Given the description of an element on the screen output the (x, y) to click on. 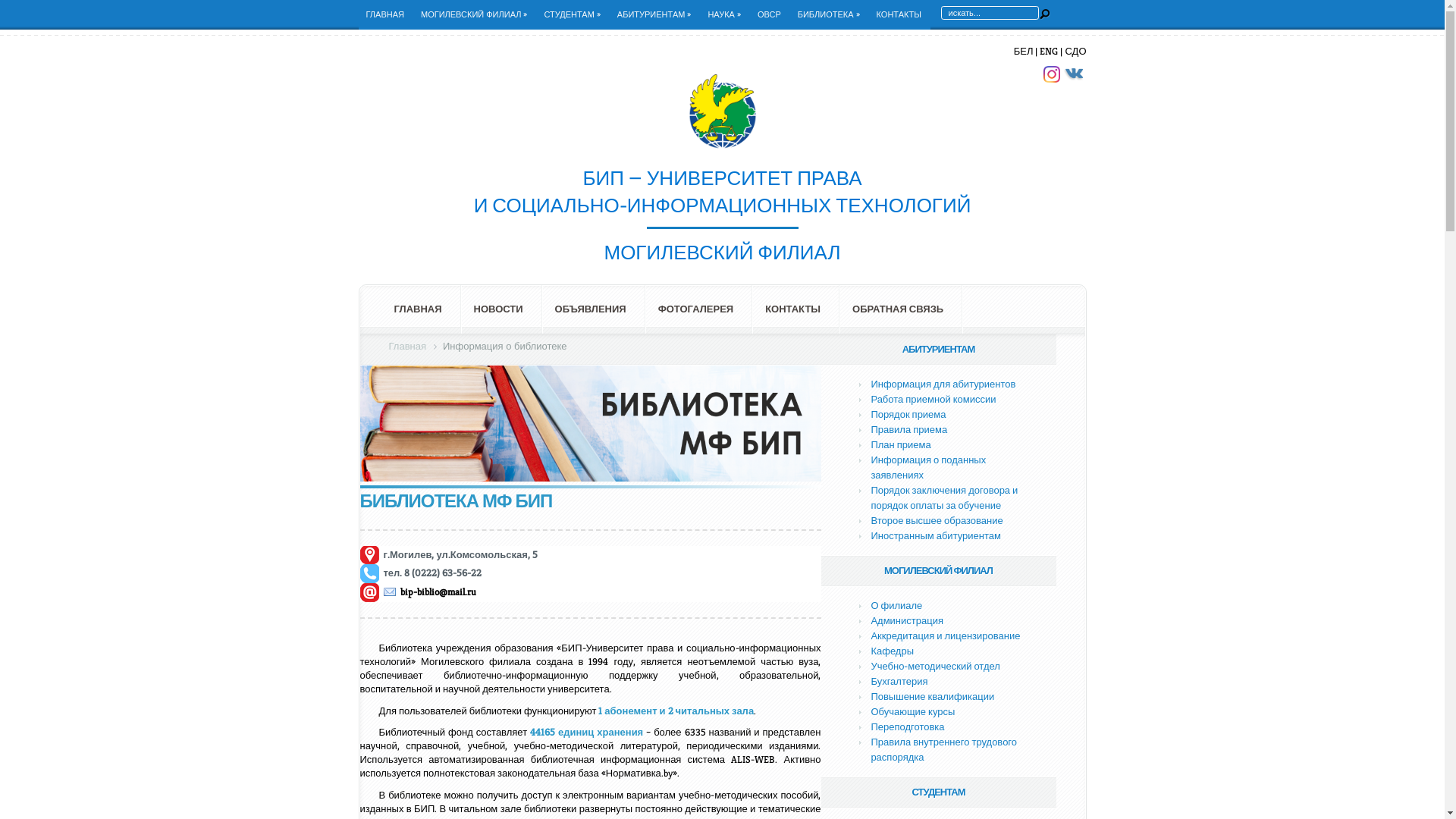
libmog.png Element type: hover (589, 423)
bip-biblio@mail.ru Element type: text (429, 591)
ENG Element type: text (1048, 50)
